Given the description of an element on the screen output the (x, y) to click on. 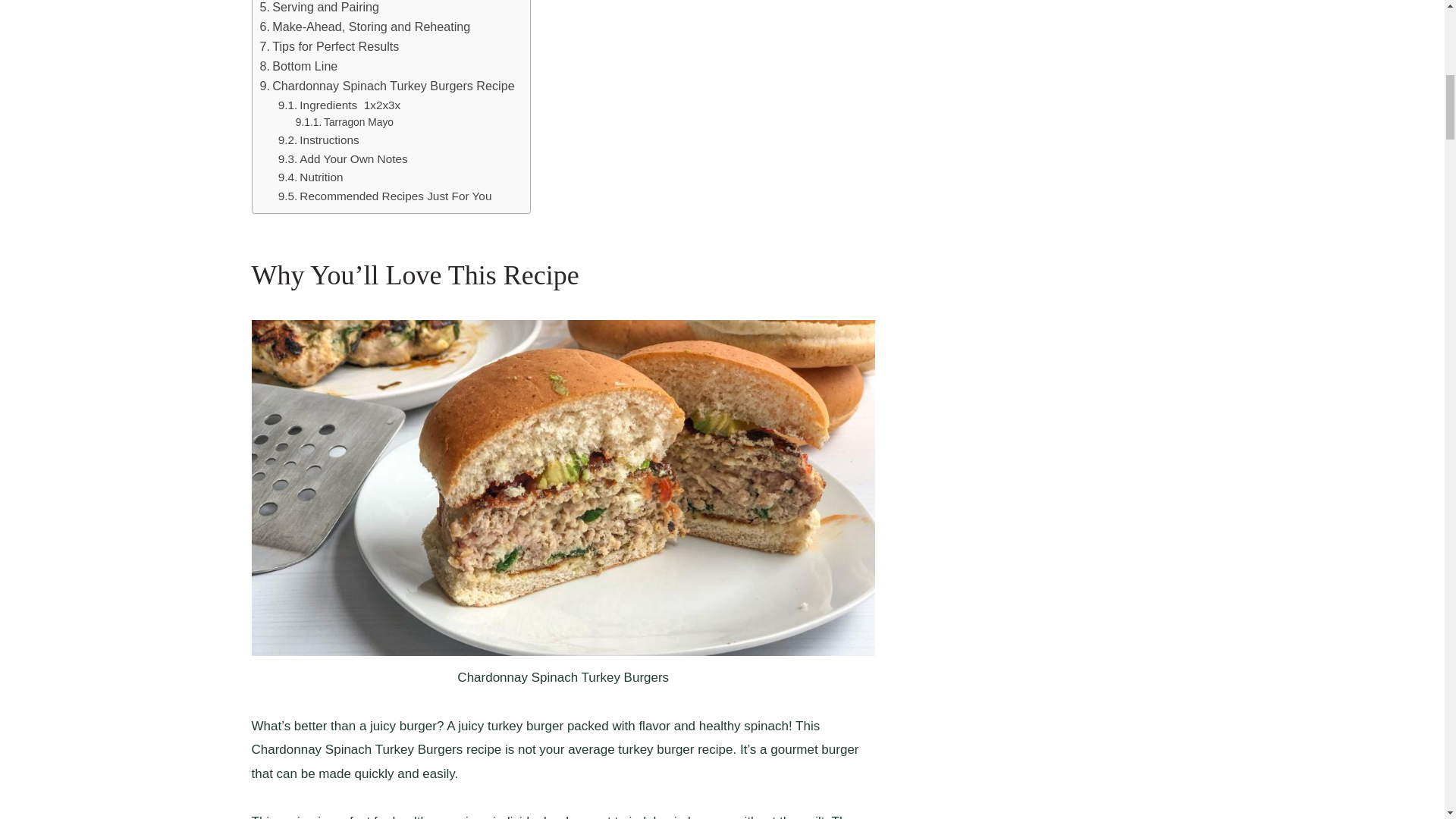
Tarragon Mayo (344, 122)
Tarragon Mayo (344, 122)
Bottom Line (298, 66)
Recommended Recipes Just For You (385, 196)
Add Your Own Notes (342, 158)
Chardonnay Spinach Turkey Burgers Recipe (386, 86)
Ingredients  1x2x3x (339, 105)
Chardonnay Spinach Turkey Burgers Recipe (386, 86)
Tips for Perfect Results (328, 46)
